Given the description of an element on the screen output the (x, y) to click on. 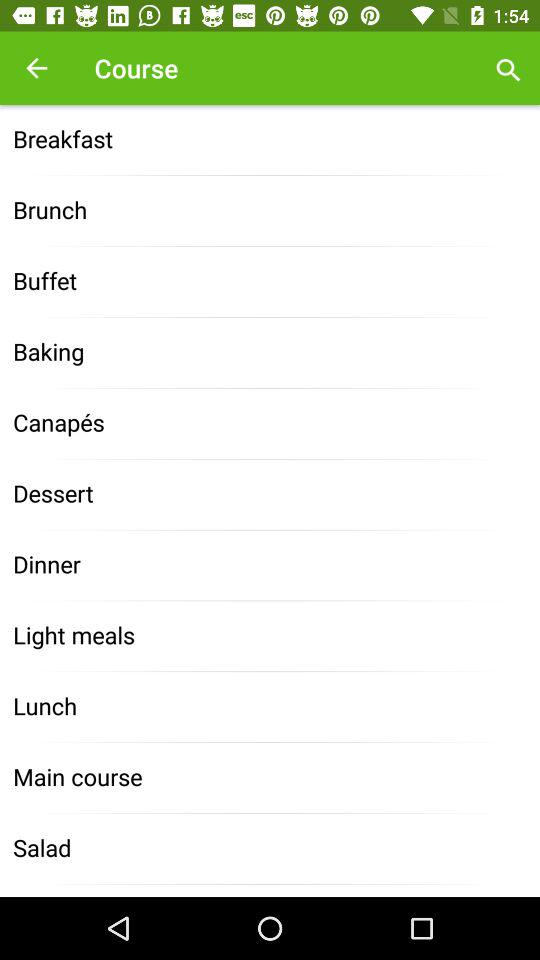
flip until sandwich (270, 890)
